Given the description of an element on the screen output the (x, y) to click on. 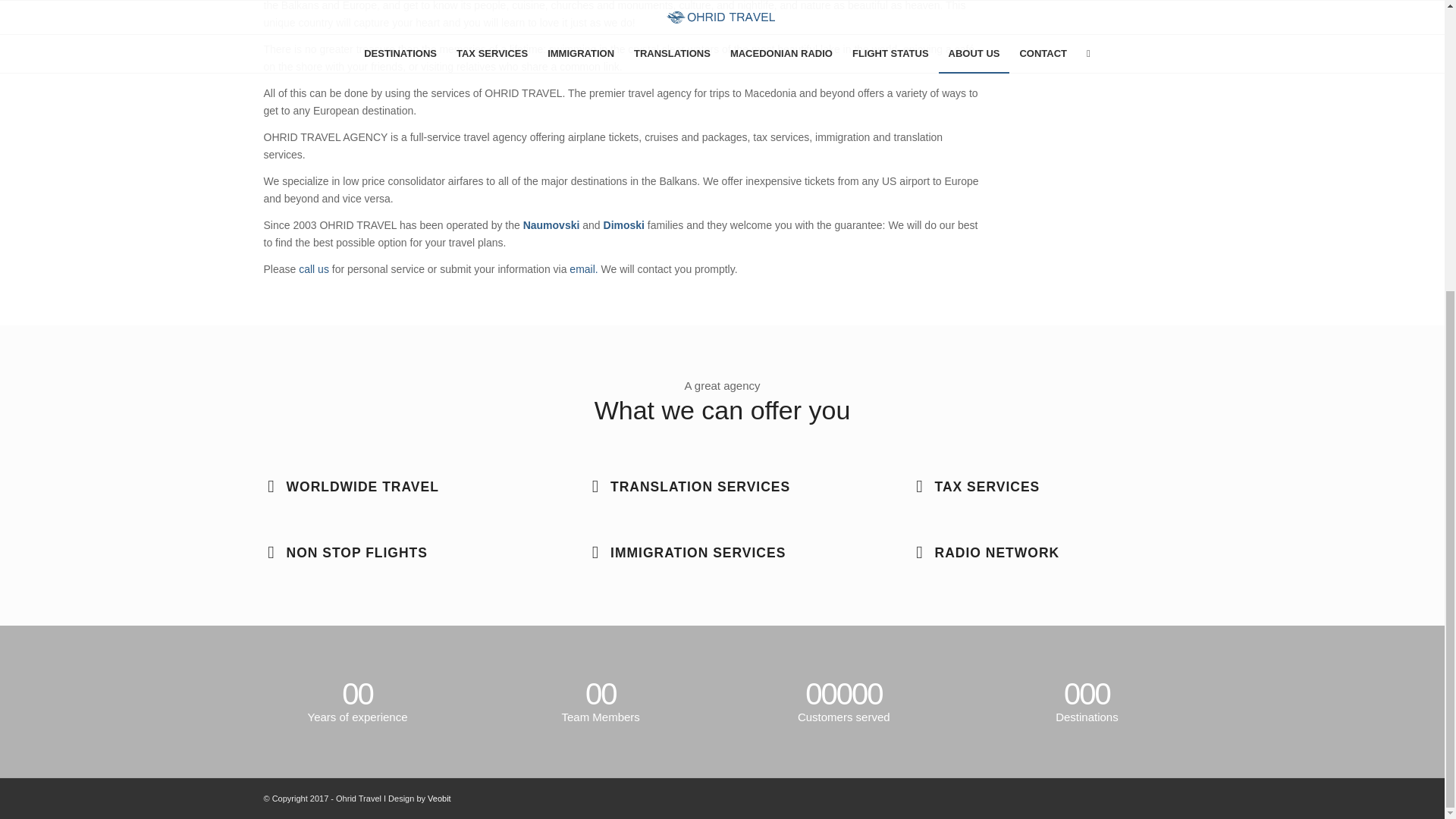
Veobit (439, 798)
email. (584, 268)
call us (314, 269)
